Given the description of an element on the screen output the (x, y) to click on. 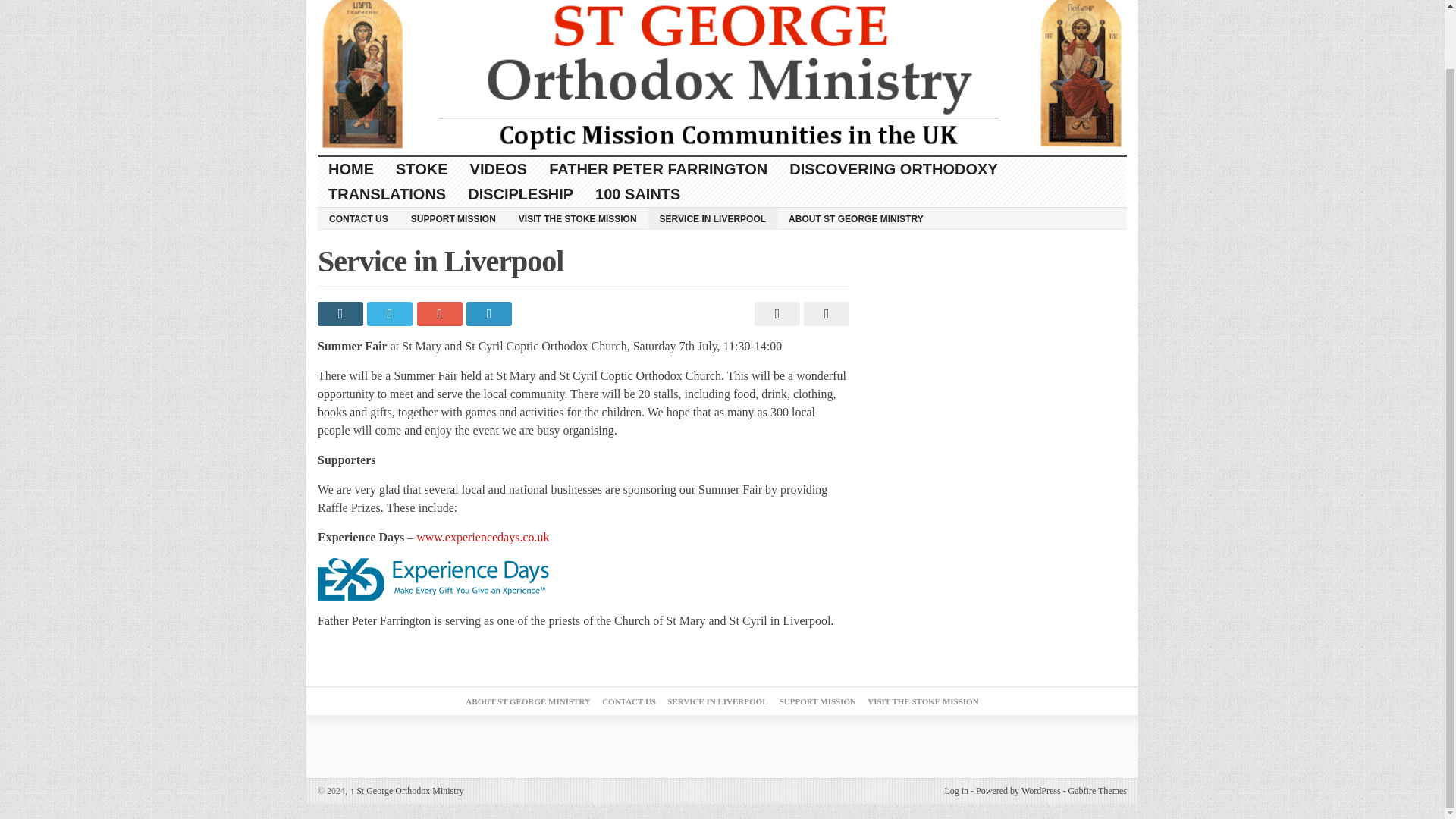
CONTACT US (357, 218)
SERVICE IN LIVERPOOL (712, 218)
VIDEOS (499, 169)
FATHER PETER FARRINGTON (658, 169)
Semantic Personal Publishing Platform (1017, 790)
HOME (351, 169)
DISCOVERING ORTHODOXY (893, 169)
St George Orthodox Ministry (406, 790)
STOKE (422, 169)
VISIT THE STOKE MISSION (576, 218)
TRANSLATIONS (387, 194)
100 SAINTS (638, 194)
english language missionary ministry (721, 77)
WordPress Newspaper Themes (1097, 790)
DISCIPLESHIP (521, 194)
